Given the description of an element on the screen output the (x, y) to click on. 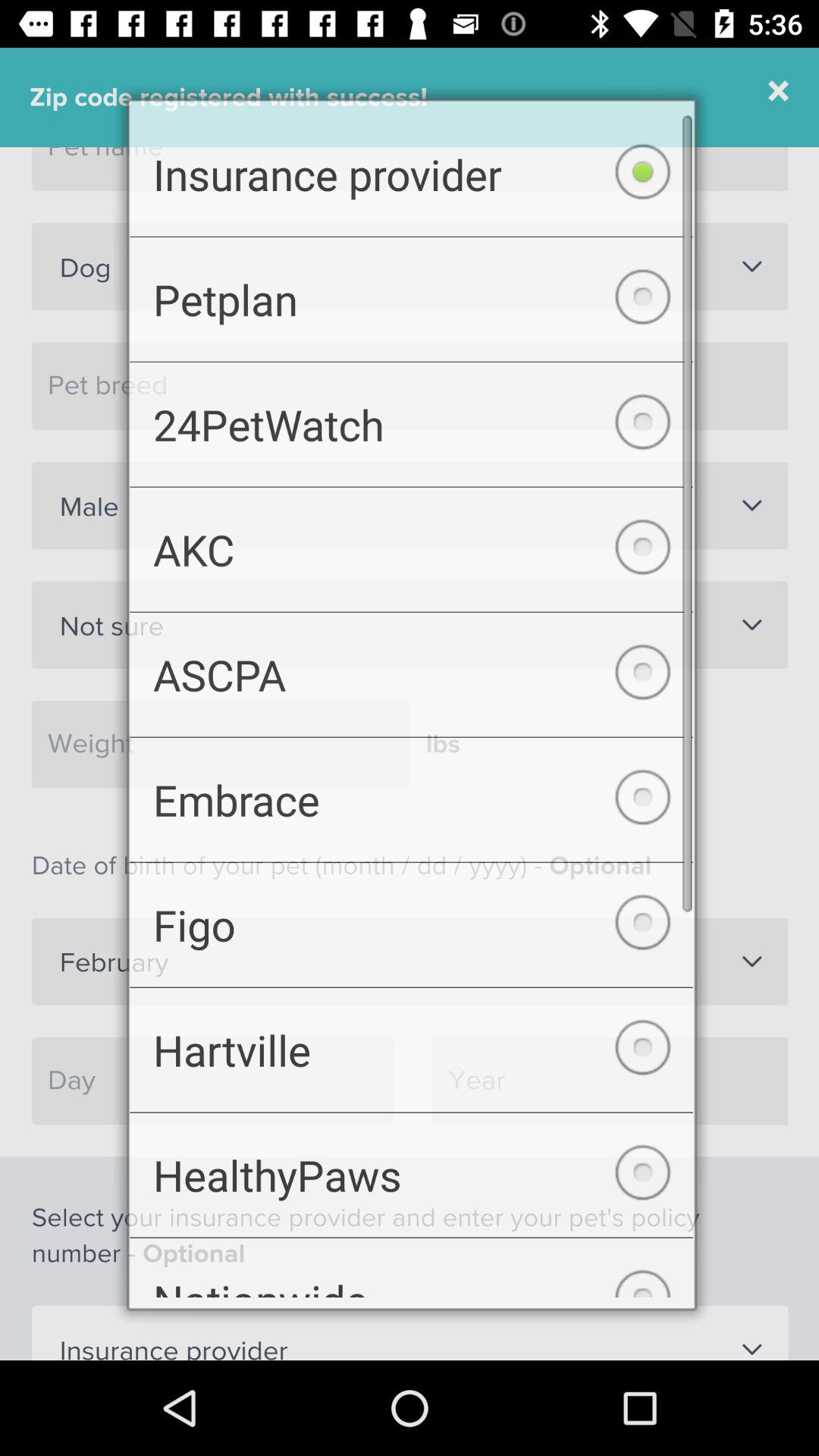
press the checkbox below embrace item (411, 930)
